Given the description of an element on the screen output the (x, y) to click on. 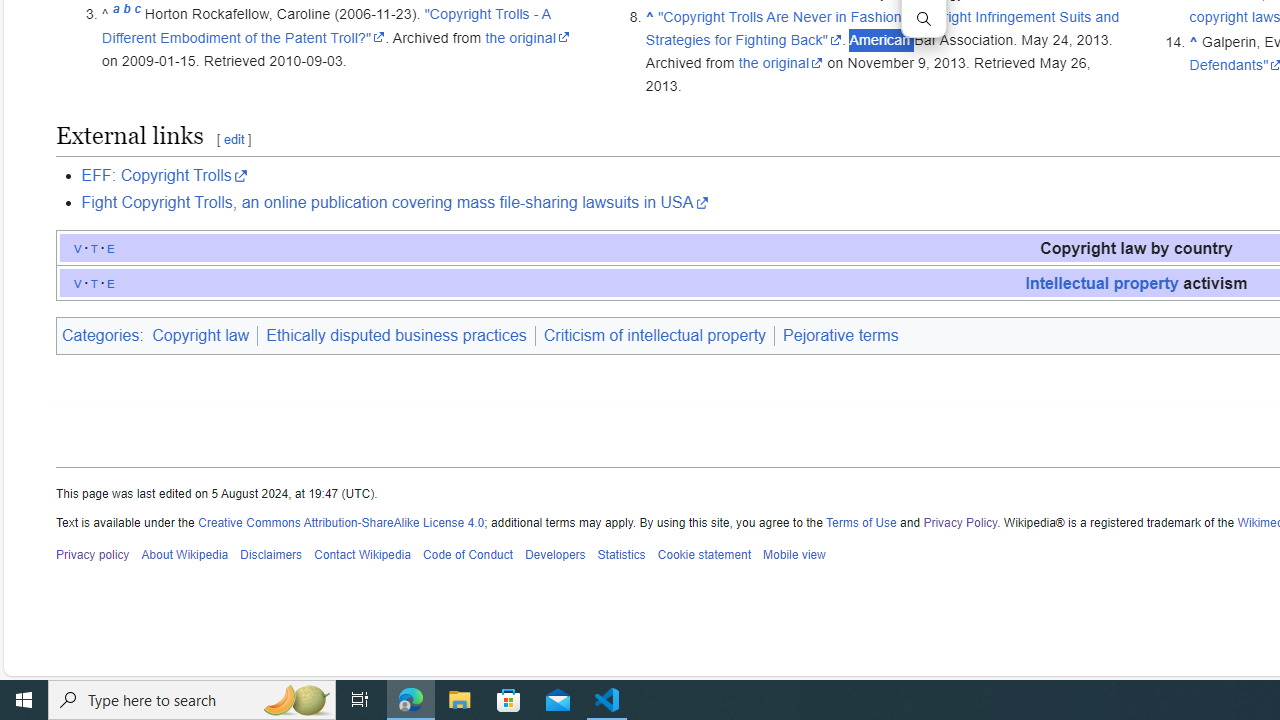
Mobile view (793, 555)
b (126, 14)
Copyright law (200, 335)
Statistics (621, 555)
Terms of Use (861, 521)
